Given the description of an element on the screen output the (x, y) to click on. 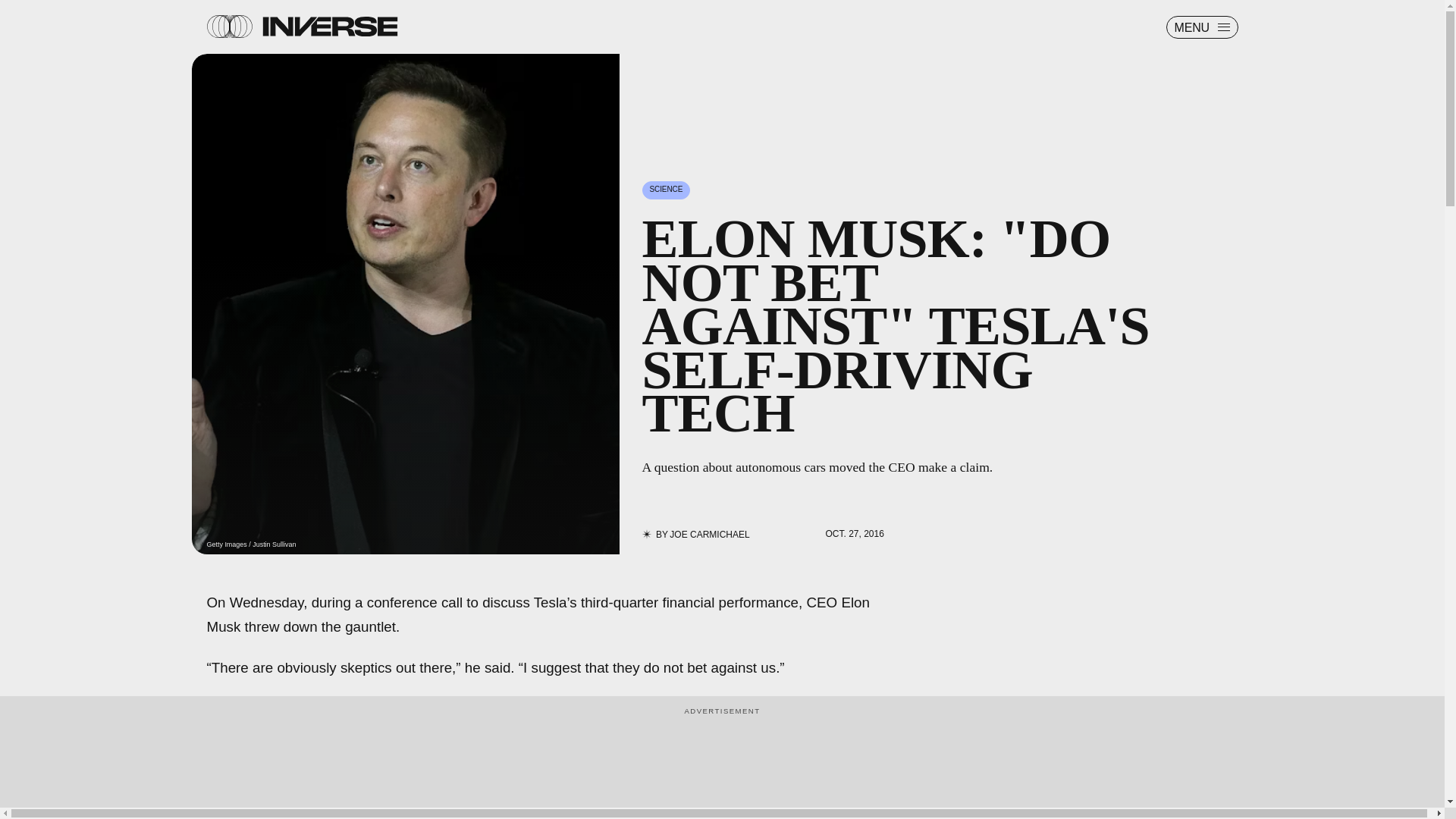
JOE CARMICHAEL (709, 533)
Inverse (328, 26)
